Given the description of an element on the screen output the (x, y) to click on. 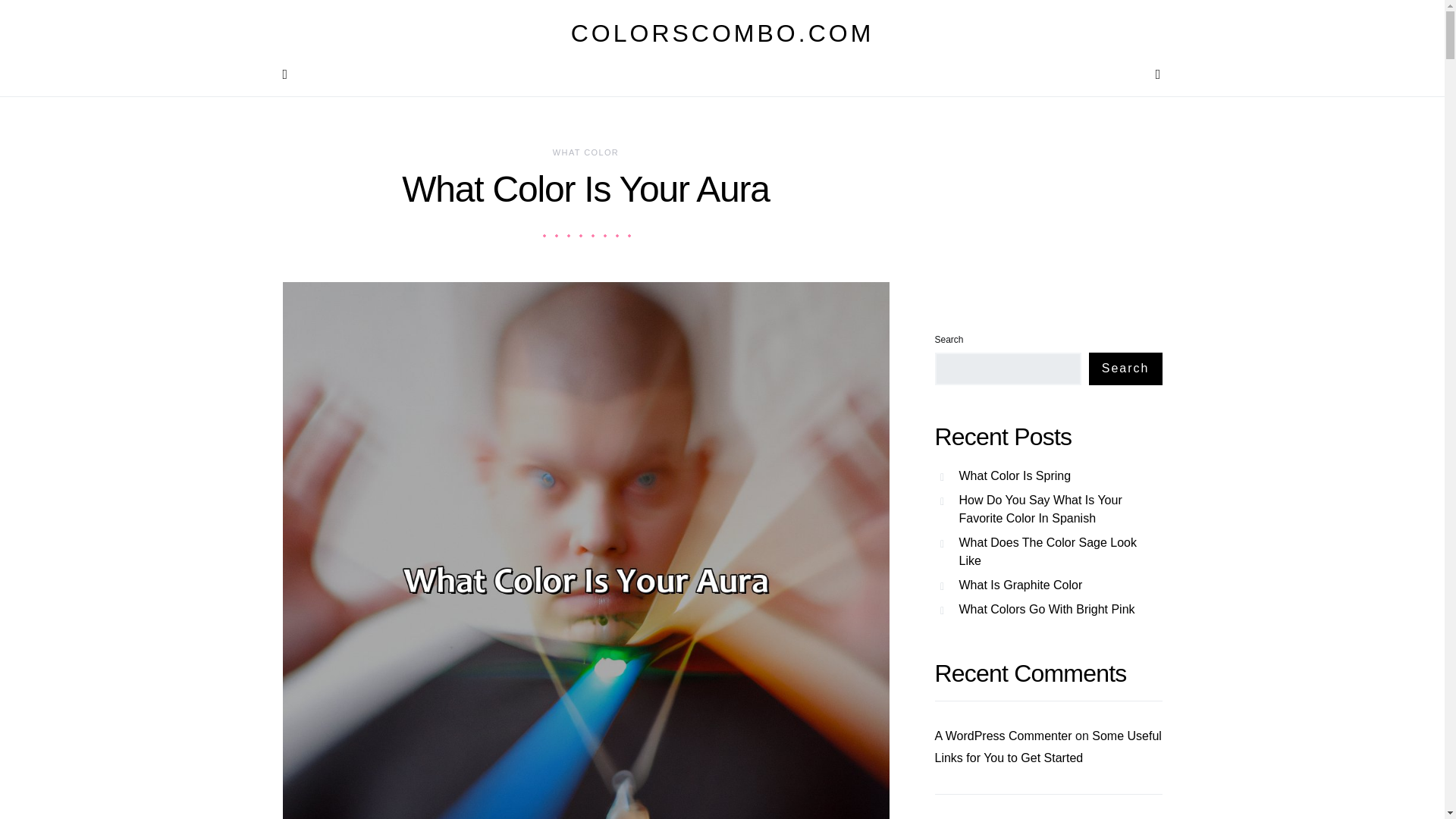
COLORSCOMBO.COM (722, 33)
WHAT COLOR (585, 152)
